Given the description of an element on the screen output the (x, y) to click on. 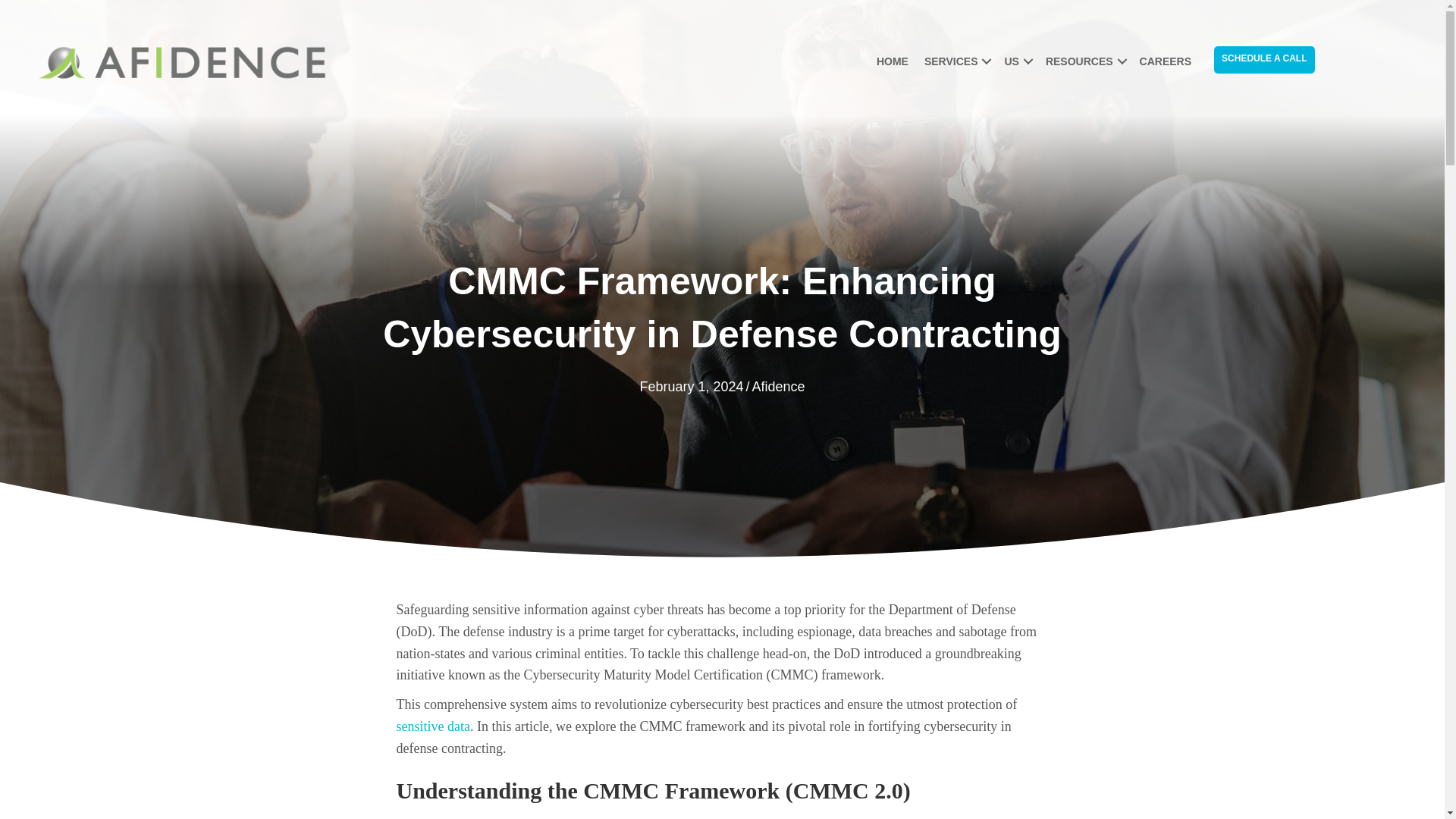
CAREERS (1165, 60)
SERVICES (956, 60)
Afidence (778, 386)
AFIDENCE Logo - Horizontal (181, 62)
SCHEDULE A CALL (1264, 59)
US (1015, 60)
sensitive data (432, 726)
HOME (892, 60)
RESOURCES (1084, 60)
